Given the description of an element on the screen output the (x, y) to click on. 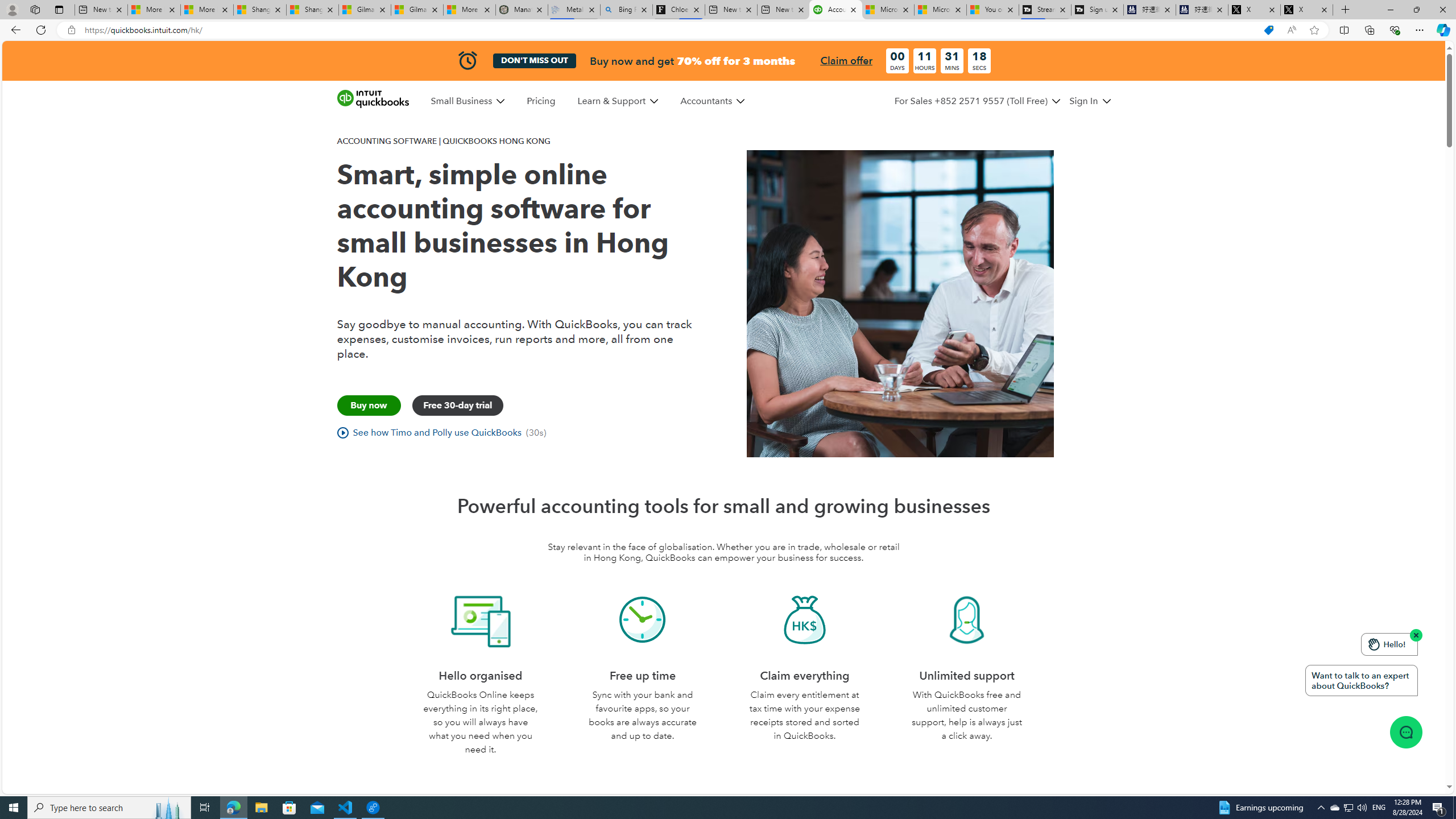
Read aloud this page (Ctrl+Shift+U) (1291, 29)
Copilot (Ctrl+Shift+.) (1442, 29)
Small Business (461, 101)
hand-icon (1373, 644)
Manatee Mortality Statistics | FWC (521, 9)
Streaming Coverage | T3 (1044, 9)
Microsoft Start (940, 9)
Chloe Sorvino (678, 9)
For Sales +852 2571 9557 (Toll Free) (977, 101)
Pricing (541, 101)
New Tab (1346, 9)
Learn & Support (617, 101)
quickbooks (372, 98)
Learn & Support (611, 101)
For Sales +852 2571 9557 (Toll Free) (970, 101)
